Given the description of an element on the screen output the (x, y) to click on. 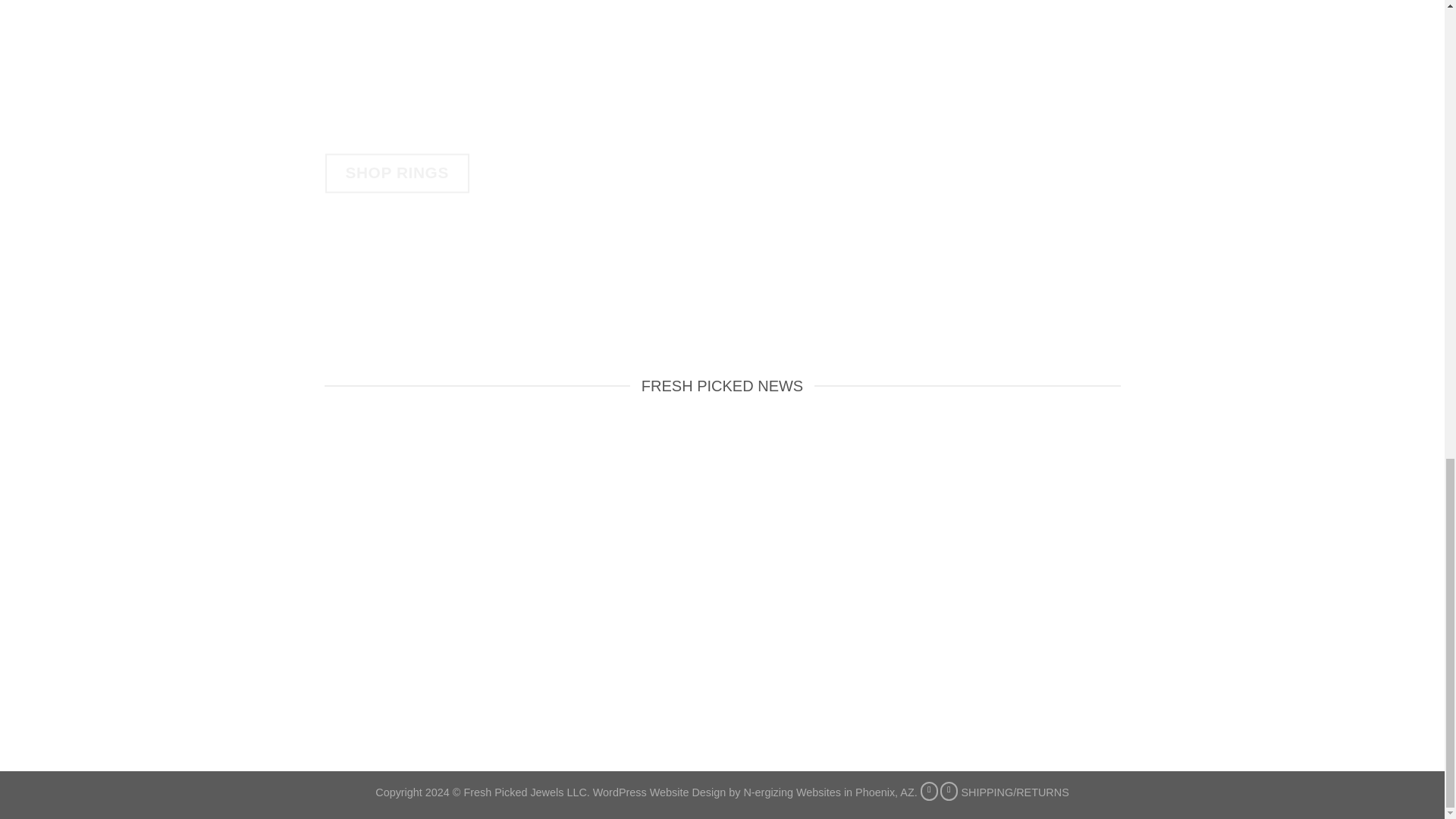
Follow on Instagram (949, 791)
SHOP RINGS (396, 173)
Follow on Facebook (929, 791)
